Given the description of an element on the screen output the (x, y) to click on. 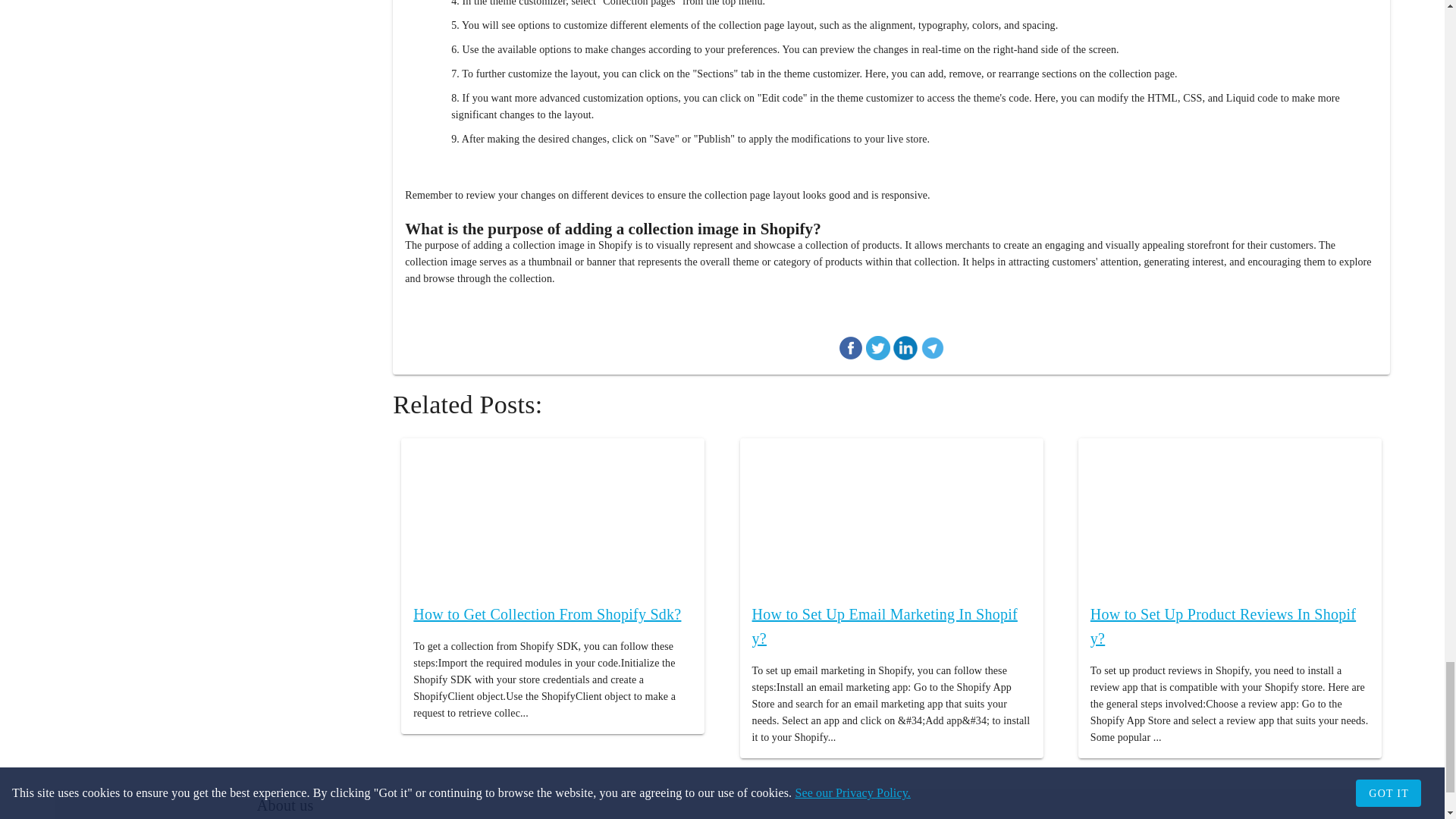
Telegram (932, 350)
LinkedIn (905, 350)
Twitter (877, 350)
Facebook (850, 350)
